Given the description of an element on the screen output the (x, y) to click on. 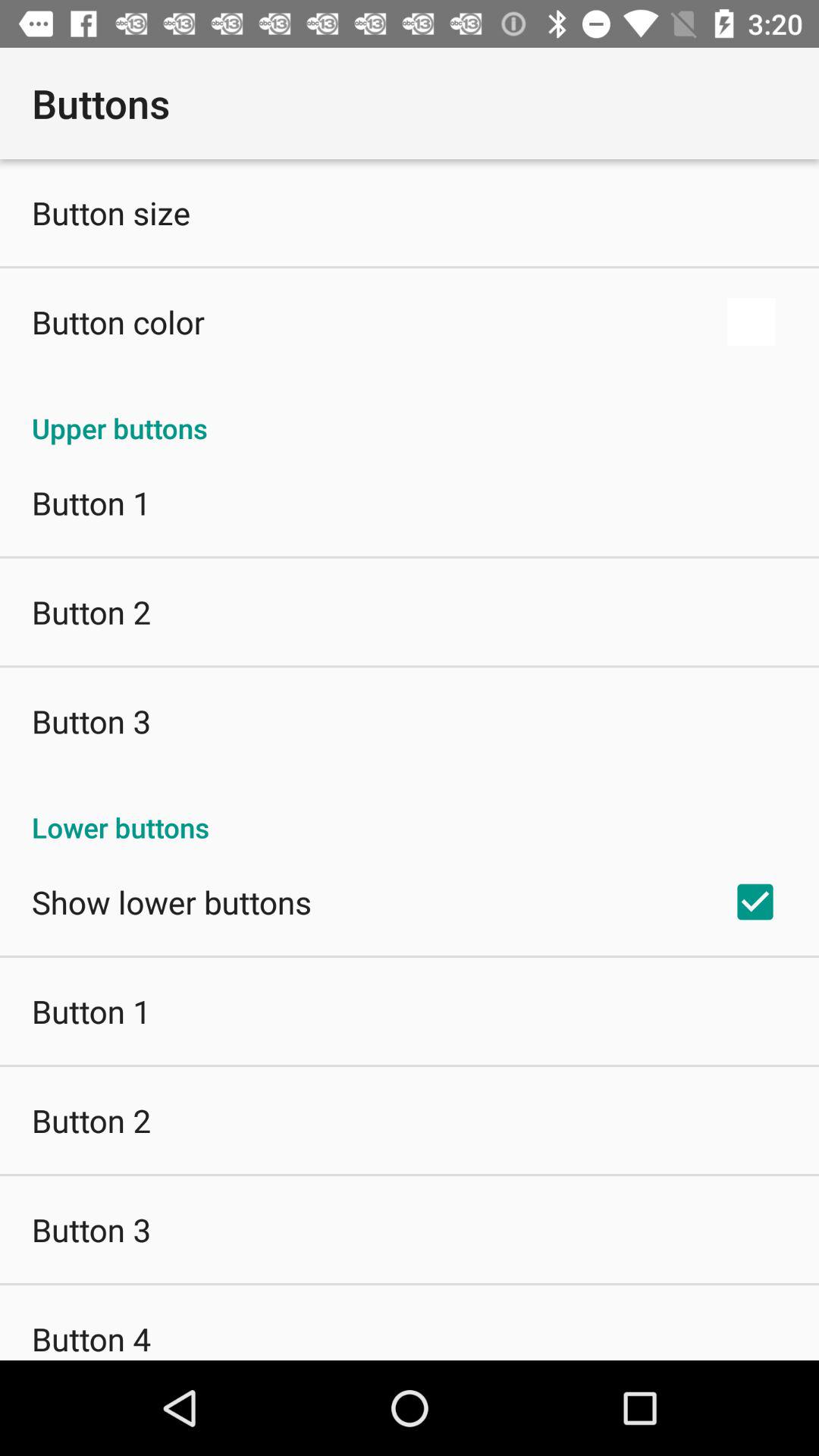
swipe to button size item (110, 212)
